Given the description of an element on the screen output the (x, y) to click on. 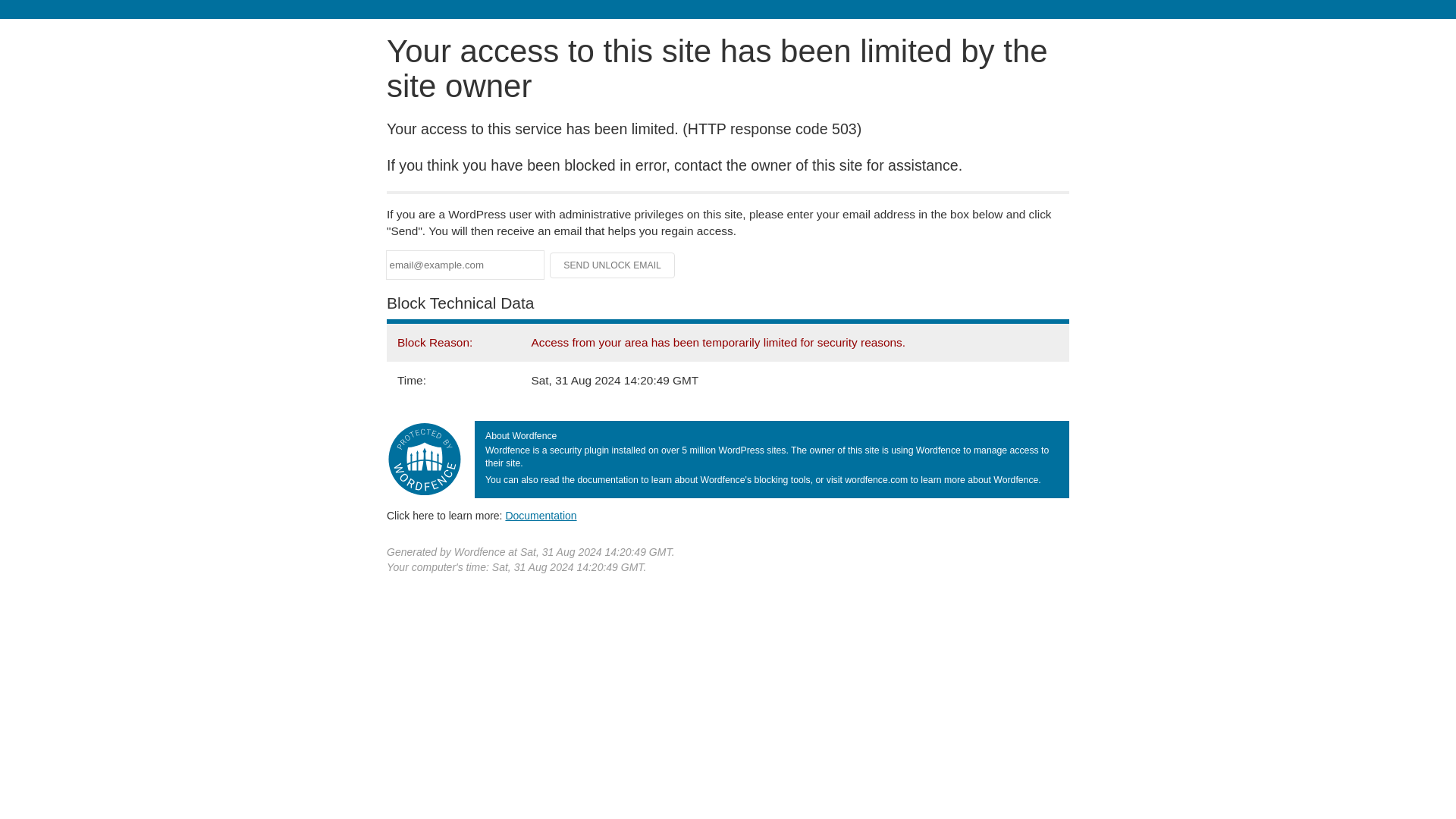
Documentation (540, 515)
Send Unlock Email (612, 265)
Send Unlock Email (612, 265)
